Given the description of an element on the screen output the (x, y) to click on. 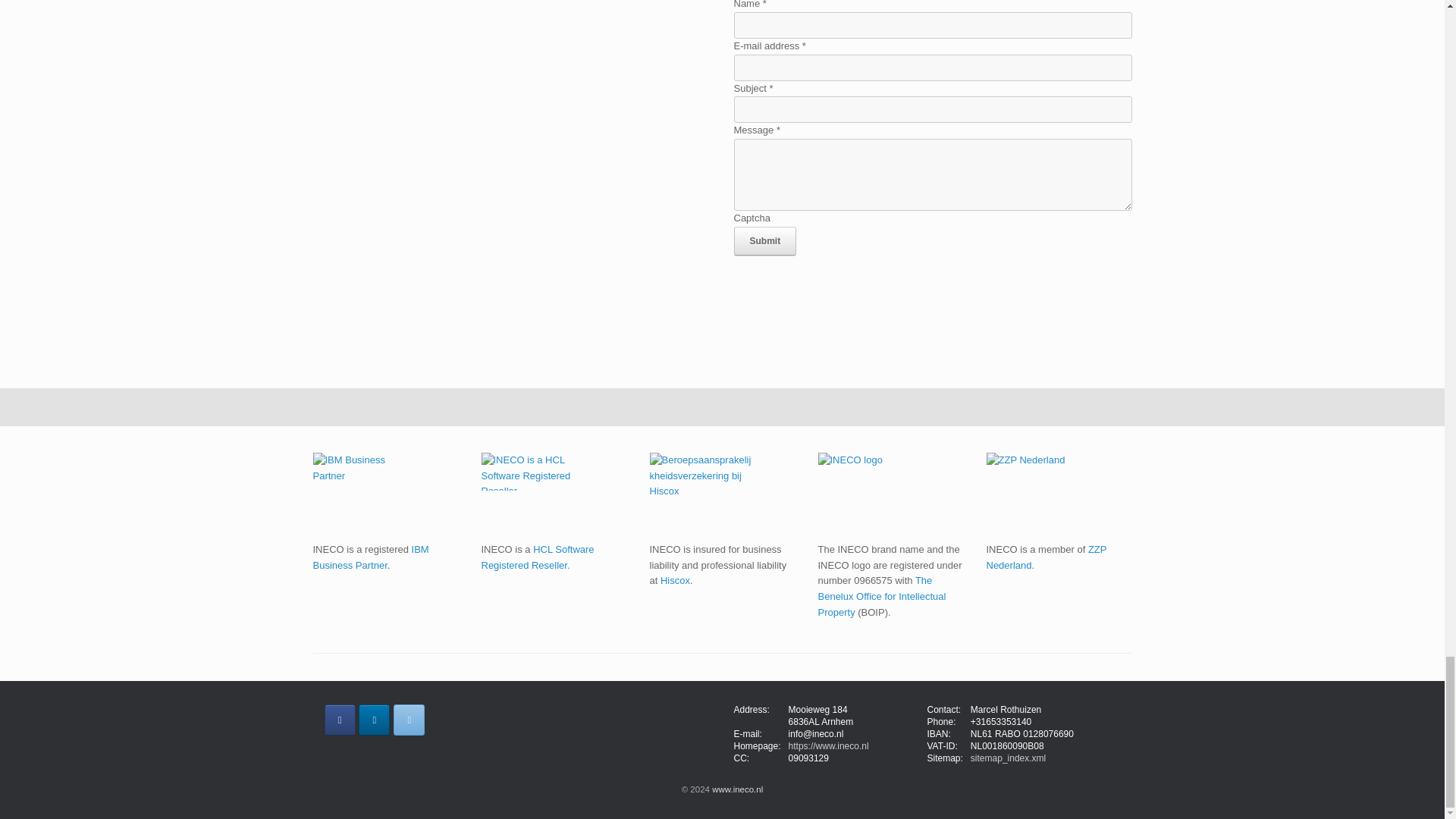
Submit (764, 240)
